Given the description of an element on the screen output the (x, y) to click on. 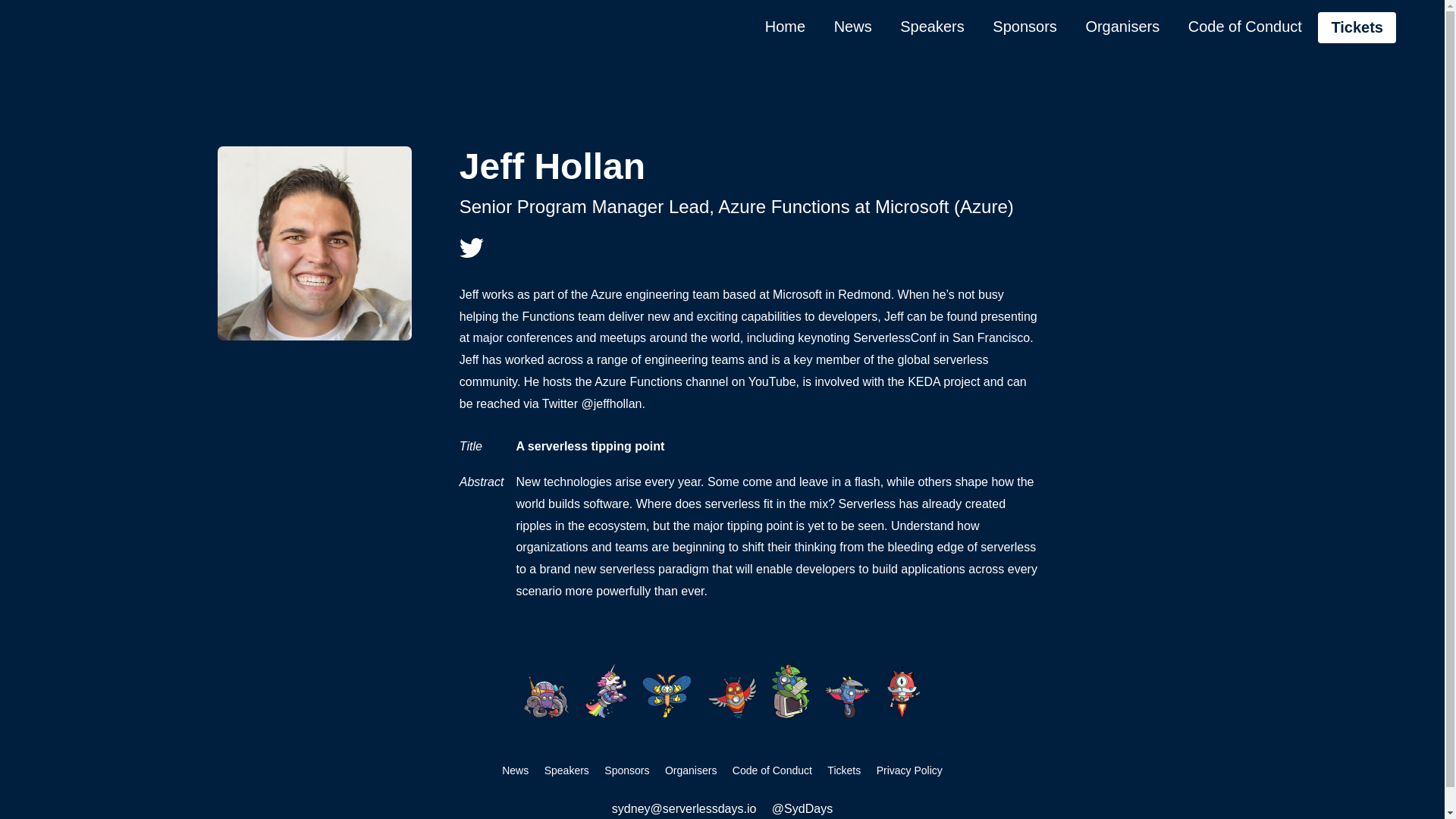
Code of Conduct (1245, 26)
Organisers (690, 770)
Code of Conduct (772, 770)
Sponsors (626, 770)
Organisers (1122, 26)
News (852, 26)
Tickets (843, 770)
News (515, 770)
Speakers (566, 770)
Tickets (1356, 27)
Privacy Policy (909, 770)
Speakers (932, 26)
Sponsors (1023, 26)
Home (784, 26)
